Given the description of an element on the screen output the (x, y) to click on. 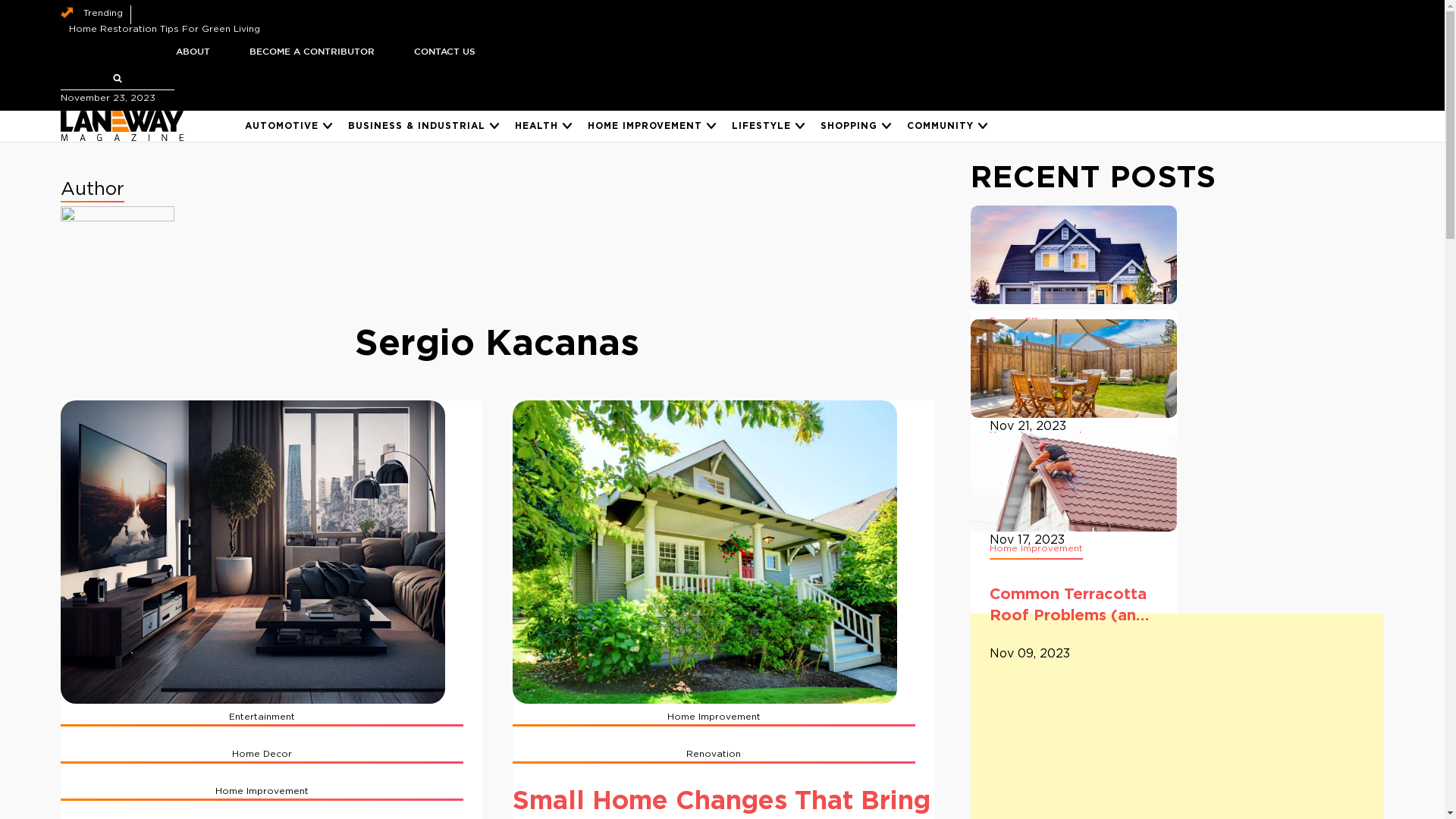
BUSINESS & INDUSTRIAL Element type: text (416, 127)
ABOUT Element type: text (192, 51)
Home Improvement Element type: text (1035, 548)
SHOPPING Element type: text (848, 127)
Home Improvement Element type: text (723, 717)
AUTOMOTIVE Element type: text (281, 127)
Home Renovations That Will Improve Energy Efficiency Element type: text (1073, 396)
HOME IMPROVEMENT Element type: text (644, 127)
CONTACT US Element type: text (444, 51)
Common Terracotta Roof Problems (and How to Fix Them) Element type: text (1073, 623)
Home Improvement Element type: text (1035, 434)
COMMUNITY Element type: text (939, 127)
Renovation Element type: text (723, 754)
Home Improvement Element type: text (271, 791)
6 Ways to Keep Your Patio Cool in Summer Element type: text (1073, 510)
HEALTH Element type: text (536, 127)
Energy Efficiency Element type: text (1029, 321)
LIFESTYLE Element type: text (760, 127)
Skip to content Element type: text (0, 0)
5 Advantages of Using Vegan Skincare Element type: text (160, 28)
BECOME A CONTRIBUTOR Element type: text (310, 51)
Entertainment Element type: text (271, 717)
Home Decor Element type: text (271, 754)
